Given the description of an element on the screen output the (x, y) to click on. 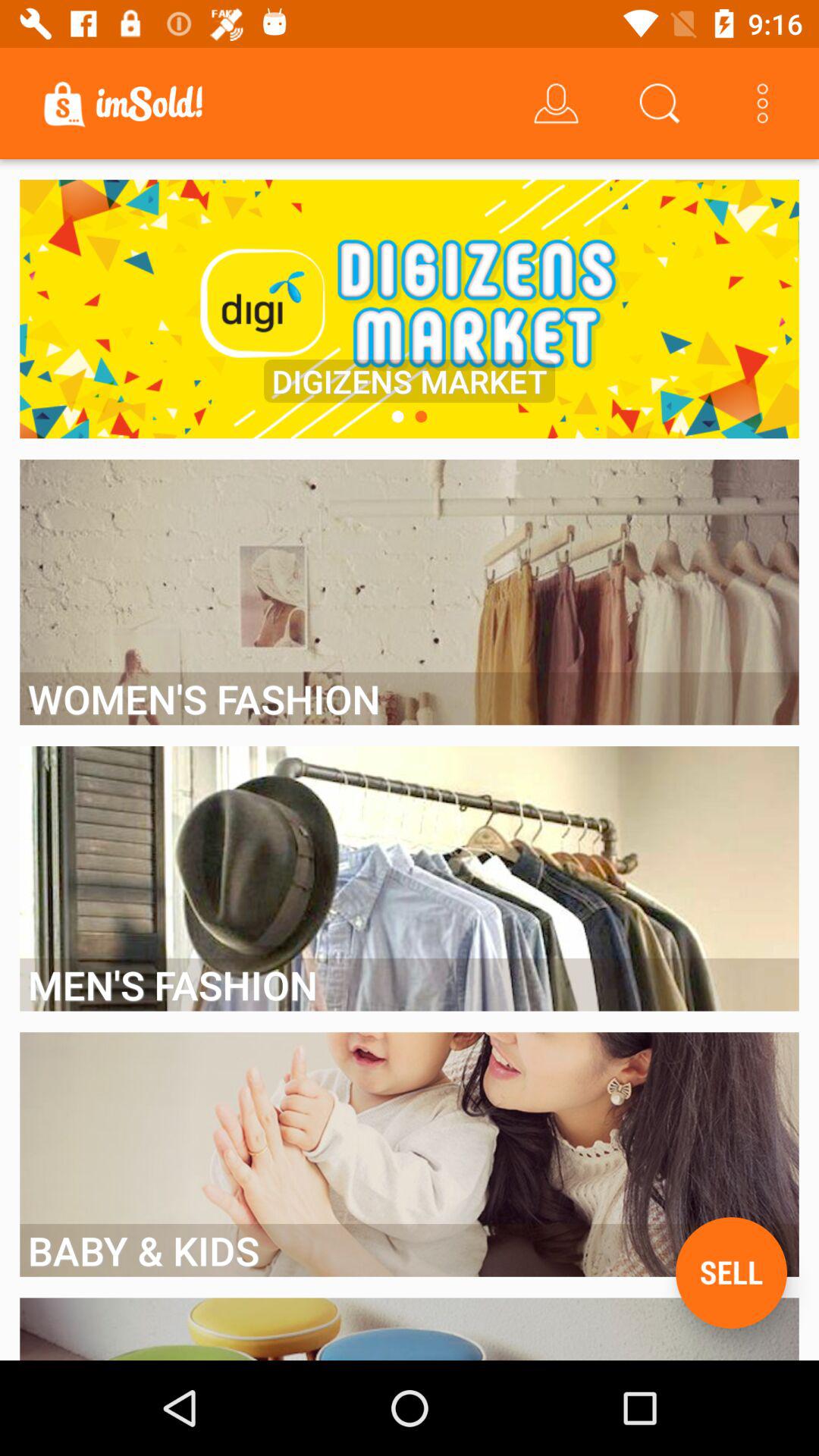
select the item below digizens market item (397, 416)
